Given the description of an element on the screen output the (x, y) to click on. 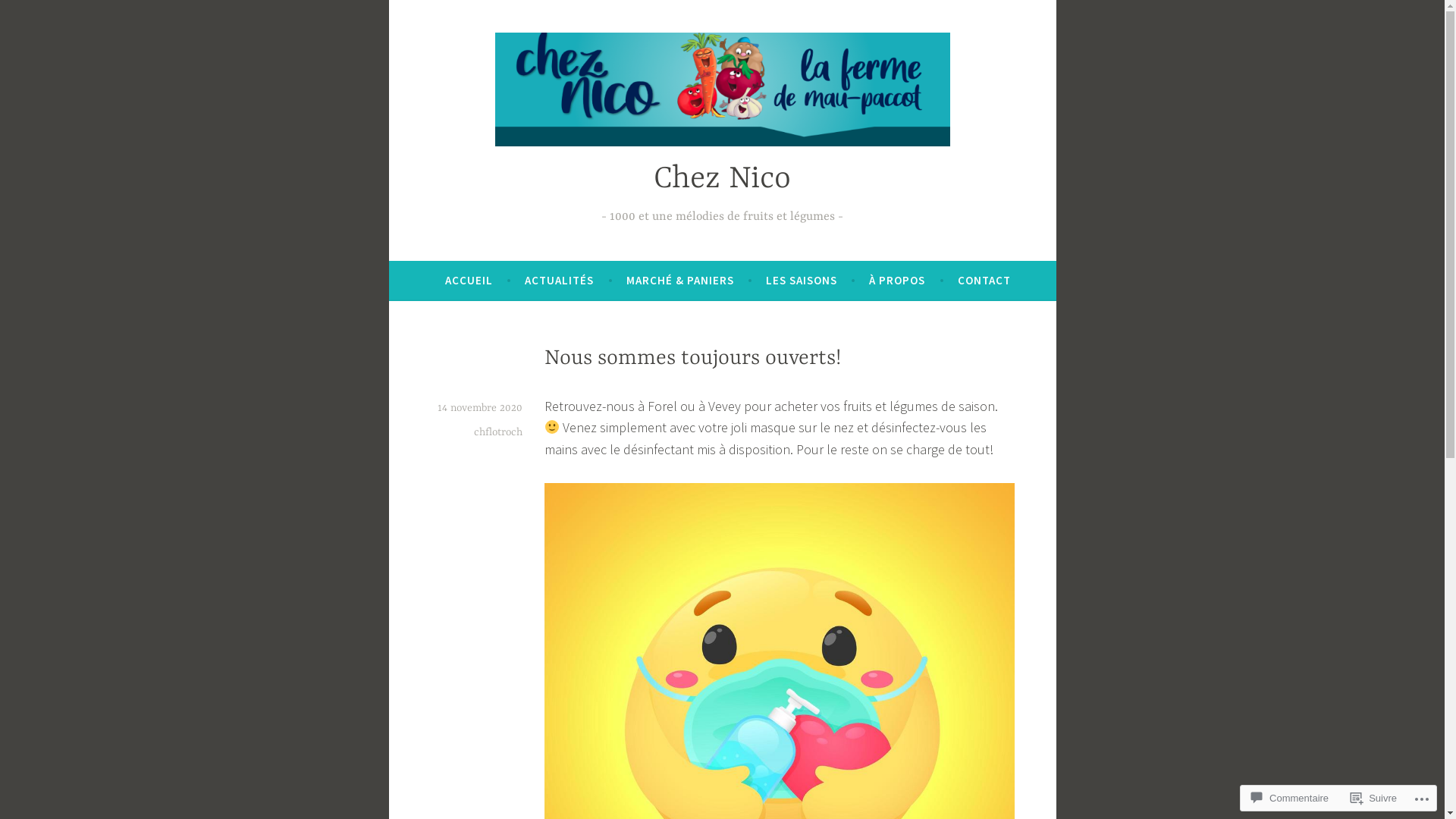
Suivre Element type: text (1373, 797)
Commentaire Element type: text (1289, 797)
chflotroch Element type: text (497, 432)
ACCUEIL Element type: text (468, 280)
LES SAISONS Element type: text (801, 280)
CONTACT Element type: text (983, 280)
14 novembre 2020 Element type: text (478, 407)
Chez Nico Element type: text (721, 179)
